Given the description of an element on the screen output the (x, y) to click on. 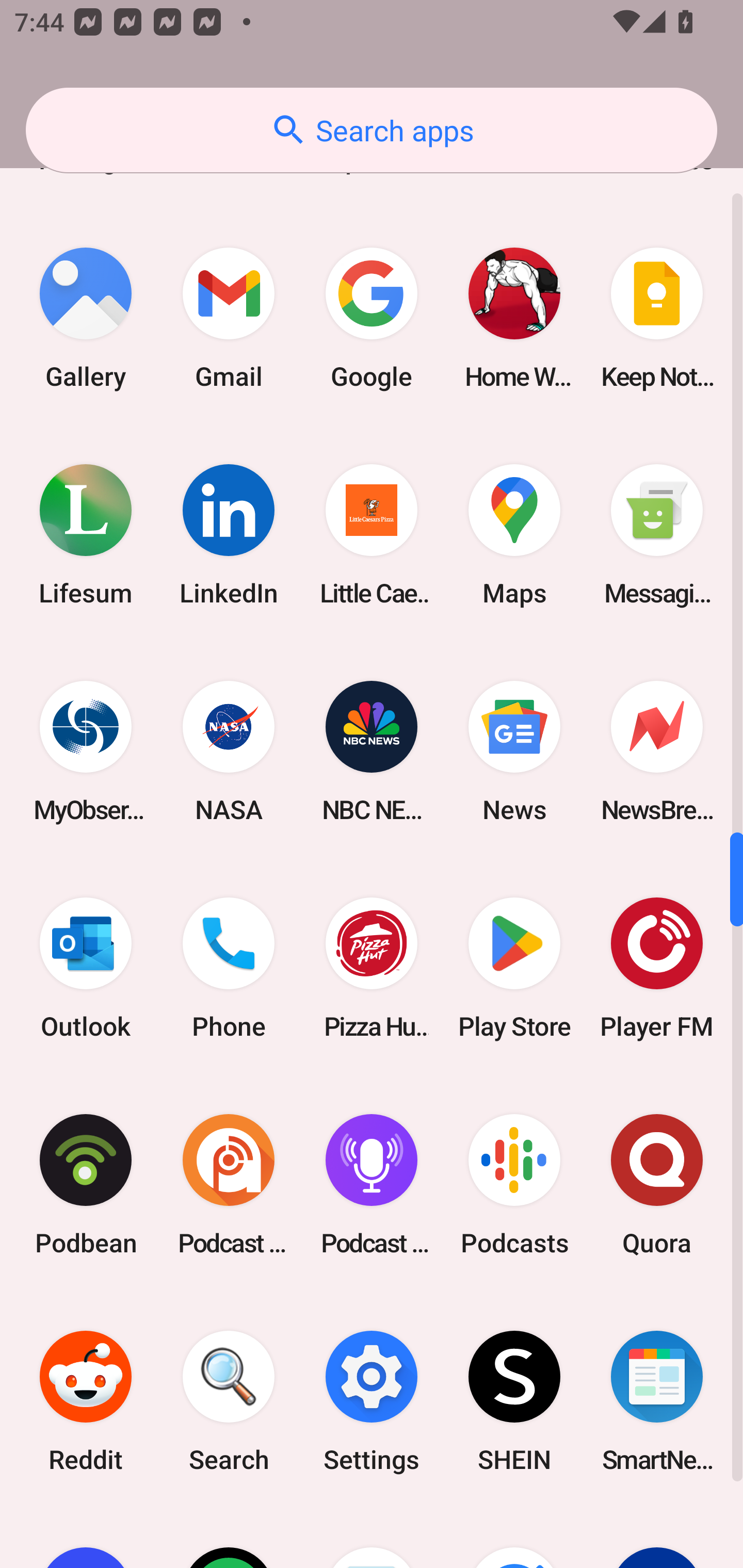
  Search apps (371, 130)
Gallery (85, 318)
Gmail (228, 318)
Google (371, 318)
Home Workout (514, 318)
Keep Notes (656, 318)
Lifesum (85, 534)
LinkedIn (228, 534)
Little Caesars Pizza (371, 534)
Maps (514, 534)
Messaging (656, 534)
MyObservatory (85, 750)
NASA (228, 750)
NBC NEWS (371, 750)
News (514, 750)
NewsBreak (656, 750)
Outlook (85, 968)
Phone (228, 968)
Pizza Hut HK & Macau (371, 968)
Play Store (514, 968)
Player FM (656, 968)
Podbean (85, 1185)
Podcast Addict (228, 1185)
Podcast Player (371, 1185)
Podcasts (514, 1185)
Quora (656, 1185)
Reddit (85, 1401)
Search (228, 1401)
Settings (371, 1401)
SHEIN (514, 1401)
SmartNews (656, 1401)
